Given the description of an element on the screen output the (x, y) to click on. 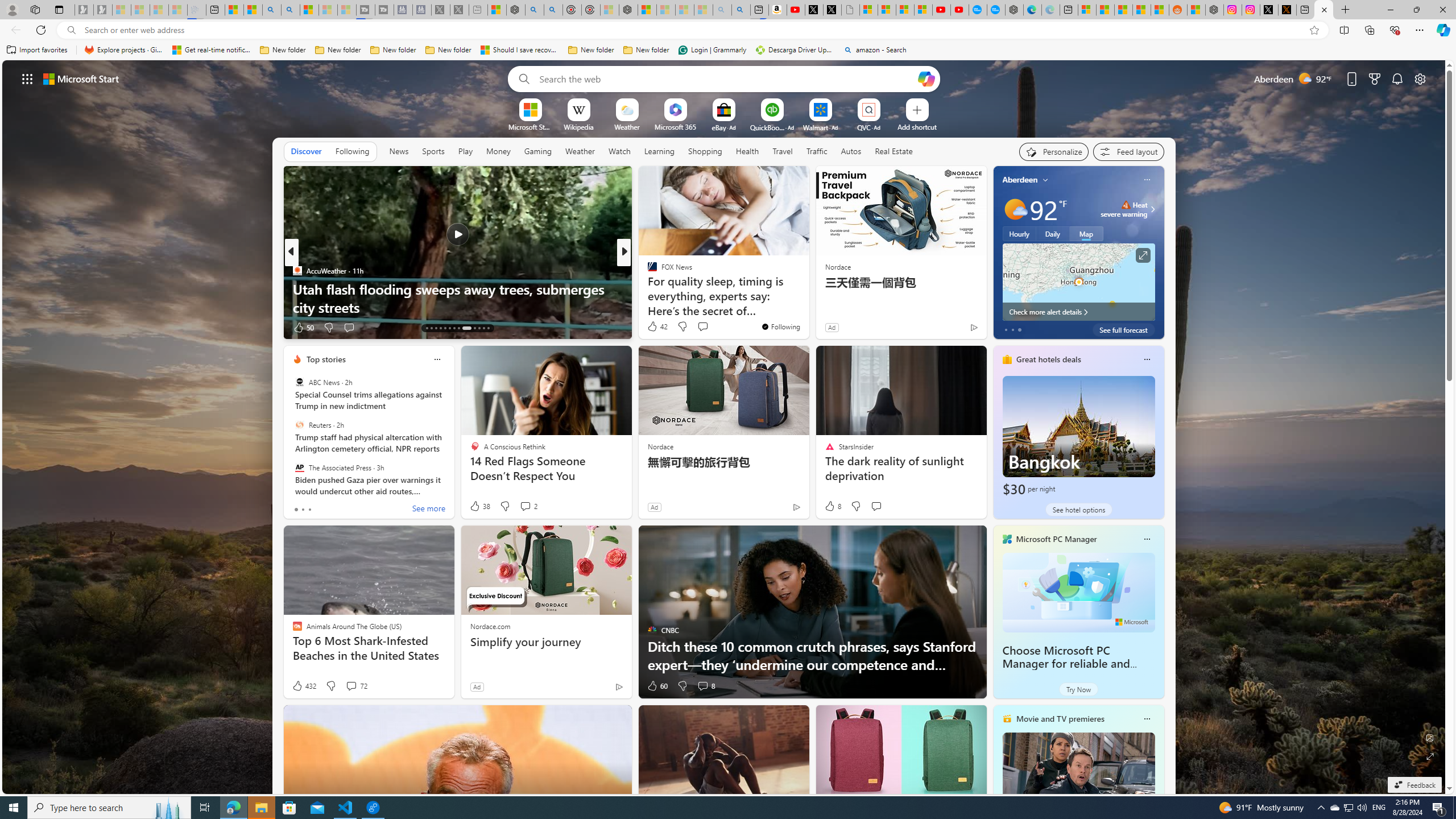
Start the conversation (876, 505)
Travel (782, 151)
AutomationID: tab-22 (474, 328)
Check more alert details (1077, 311)
Wikipedia (578, 126)
